Given the description of an element on the screen output the (x, y) to click on. 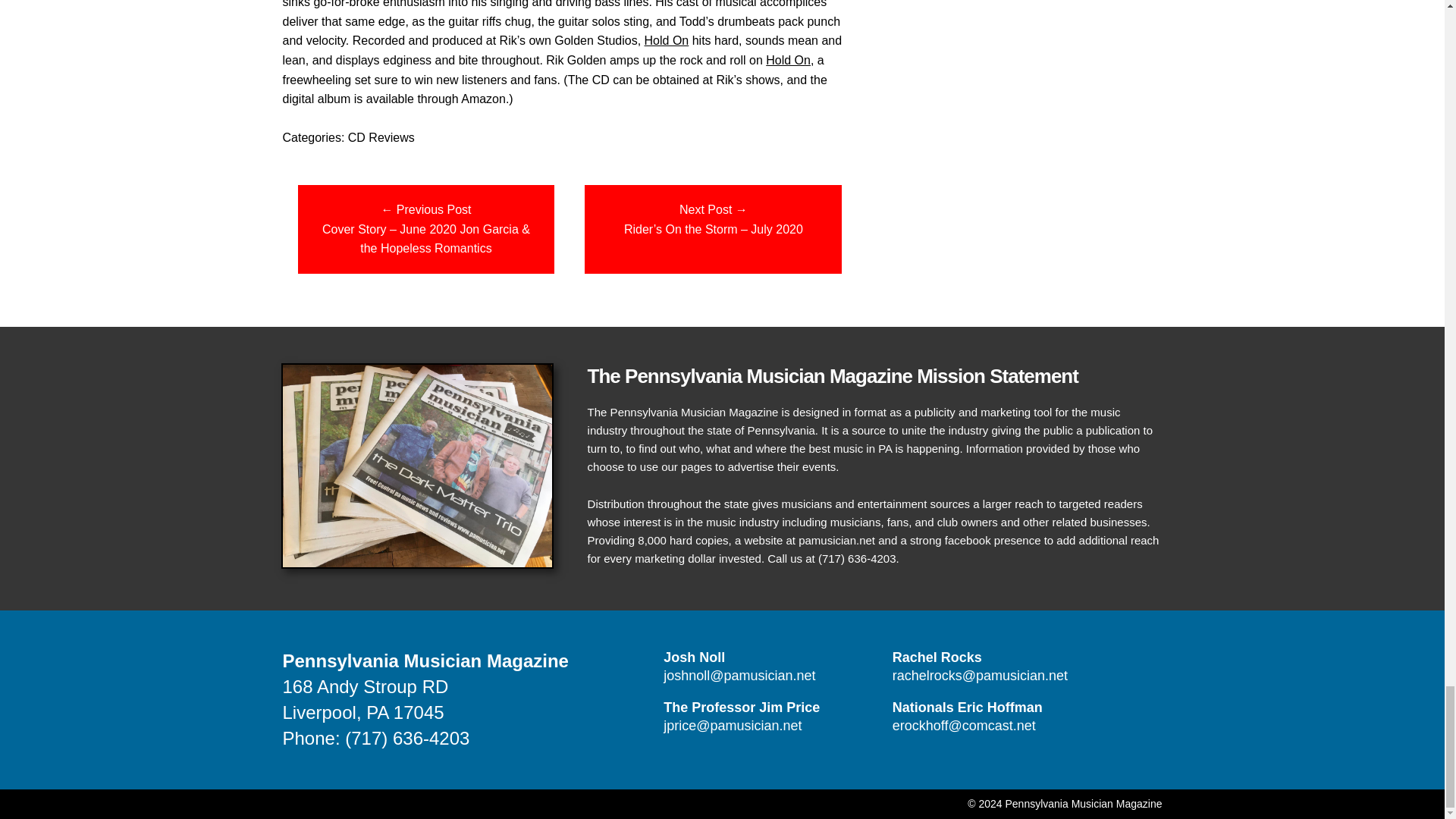
pamusician.net (836, 540)
CD Reviews (380, 137)
